Given the description of an element on the screen output the (x, y) to click on. 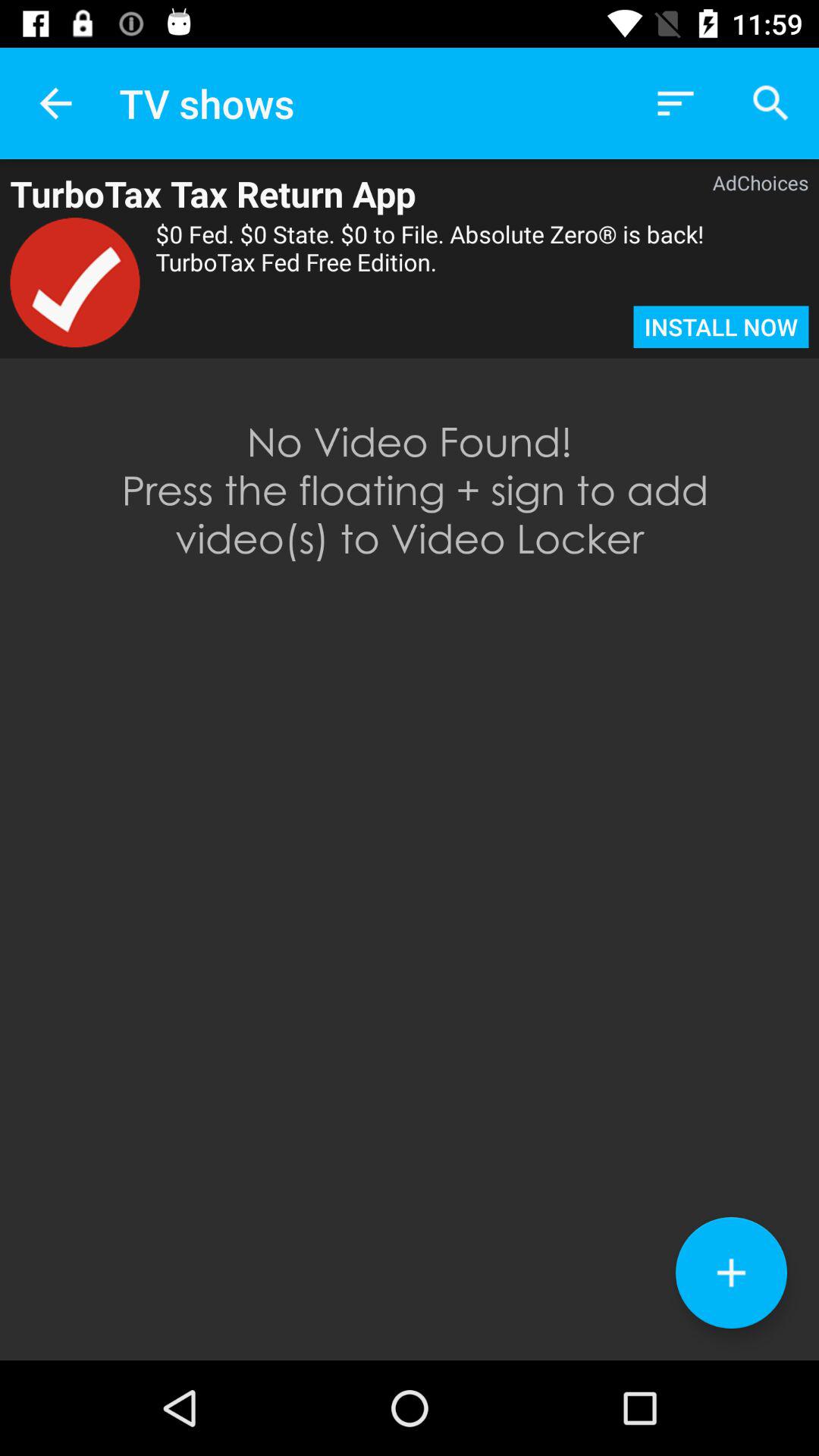
launch the app to the left of adchoices (337, 193)
